Given the description of an element on the screen output the (x, y) to click on. 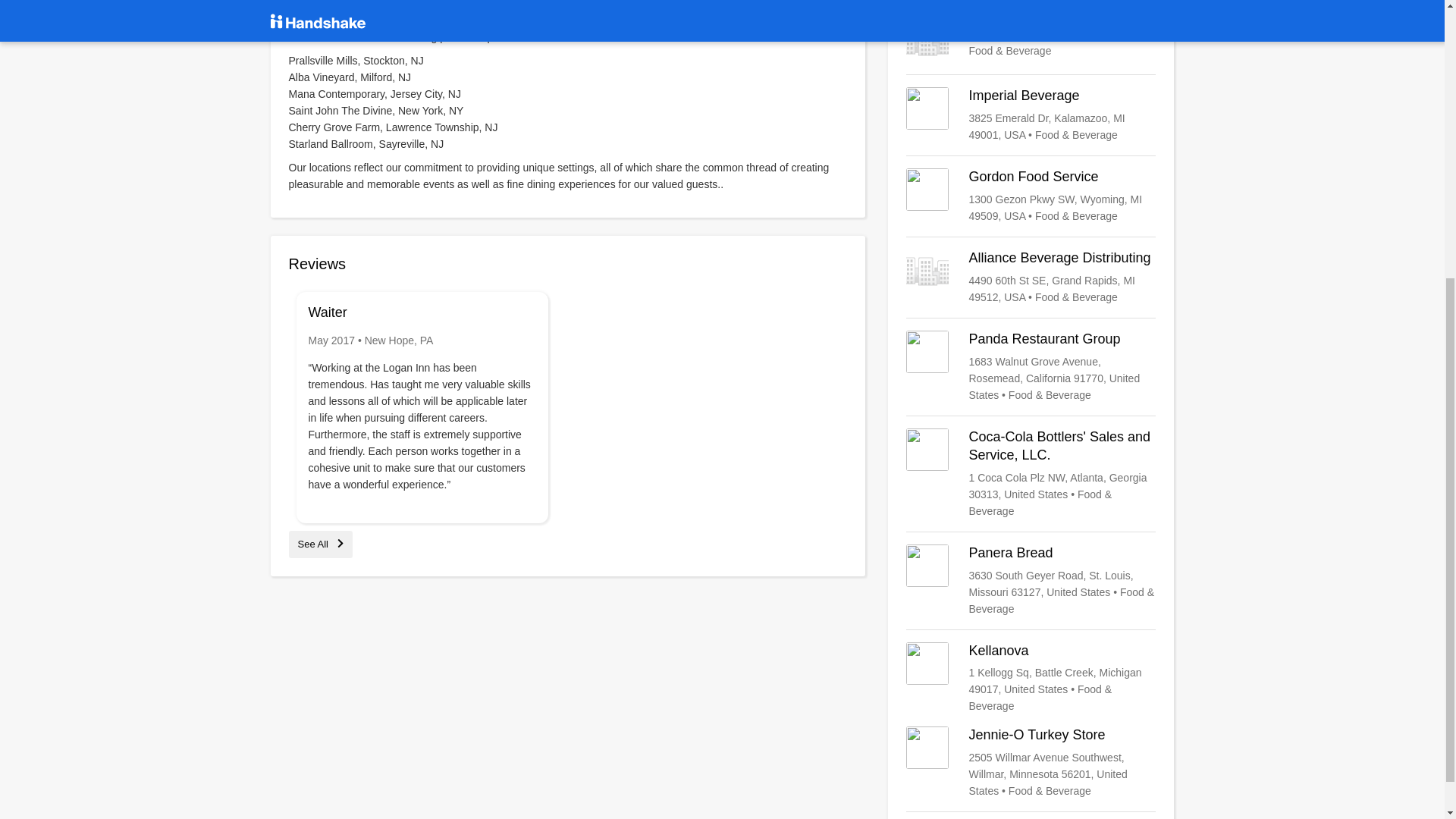
See All (320, 543)
Coca-Cola Bottlers' Sales and Service, LLC. (1030, 473)
Family Video (1030, 40)
Gordon Food Service (1030, 196)
Panera Bread (1030, 580)
Jennie-O Turkey Store (1030, 762)
Kellanova (1030, 678)
Panda Restaurant Group (1030, 366)
Imperial Beverage (1030, 114)
Alliance Beverage Distributing (1030, 277)
